Given the description of an element on the screen output the (x, y) to click on. 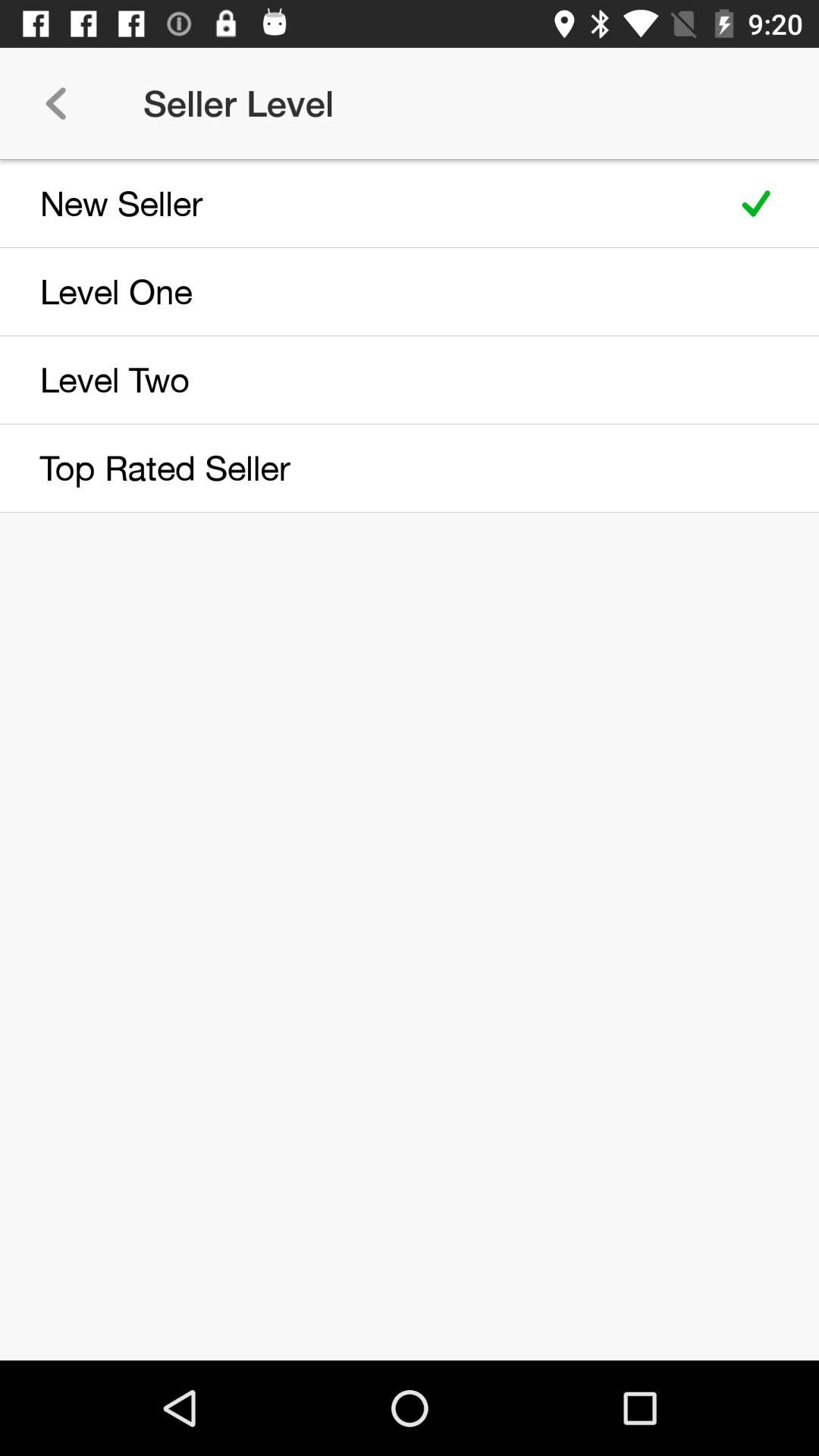
tap the item above level two (358, 291)
